Given the description of an element on the screen output the (x, y) to click on. 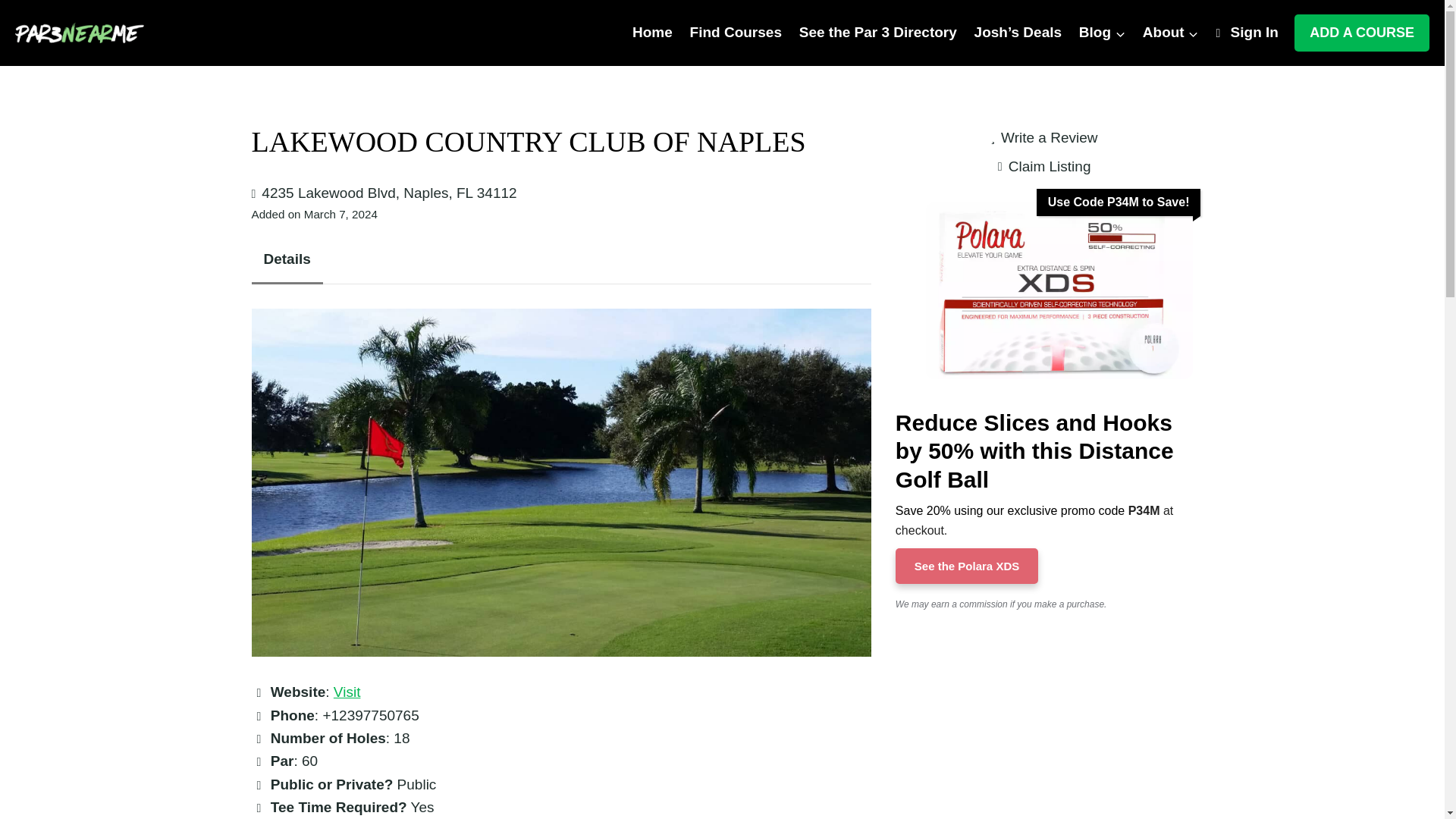
Details (287, 259)
ADD A COURSE (1361, 32)
Visit (347, 691)
See the Par 3 Directory (877, 33)
Claim Listing (1043, 166)
Write a Review (1044, 137)
Find Courses (735, 33)
Sign In (1247, 33)
Blog (1102, 33)
About (1170, 33)
4235 Lakewood Blvd, Naples, FL 34112 (389, 192)
